Given the description of an element on the screen output the (x, y) to click on. 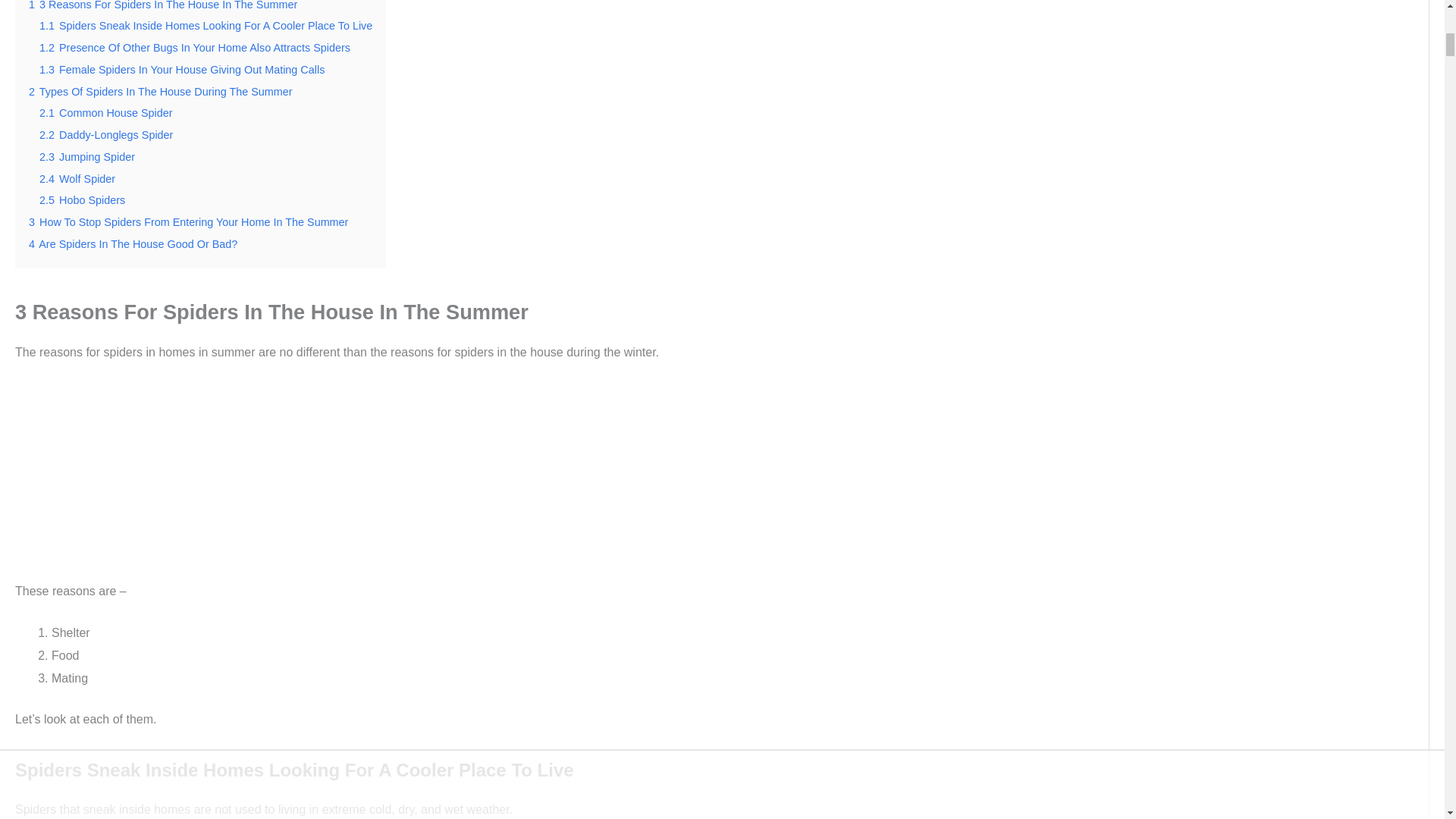
3 How To Stop Spiders From Entering Your Home In The Summer (188, 222)
2.1 Common House Spider (106, 112)
4 Are Spiders In The House Good Or Bad? (133, 244)
2 Types Of Spiders In The House During The Summer (160, 91)
2.4 Wolf Spider (77, 178)
1 3 Reasons For Spiders In The House In The Summer (163, 5)
2.2 Daddy-Longlegs Spider (106, 134)
2.5 Hobo Spiders (82, 200)
2.3 Jumping Spider (87, 156)
